Given the description of an element on the screen output the (x, y) to click on. 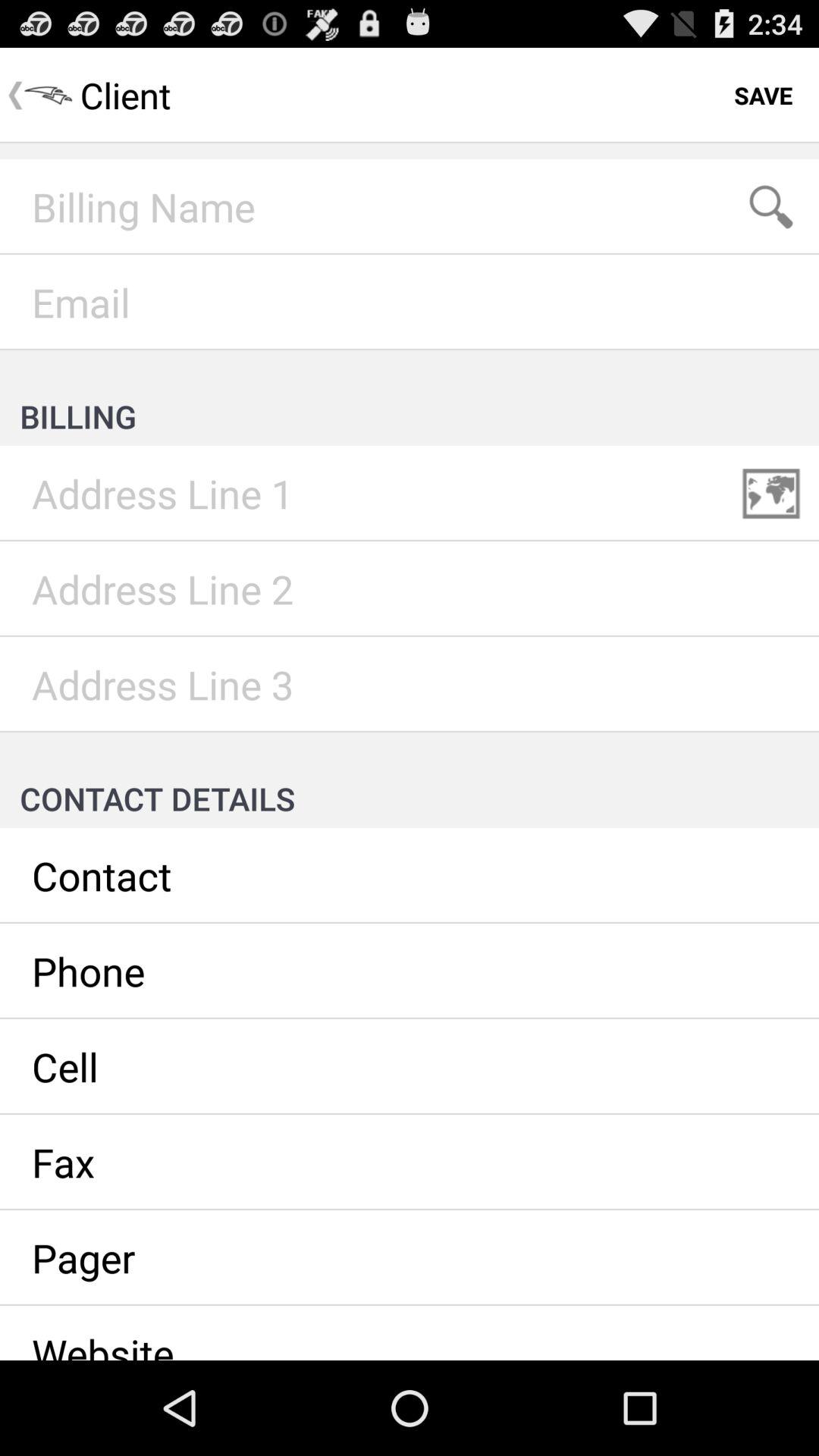
choose the item next to client (763, 95)
